Given the description of an element on the screen output the (x, y) to click on. 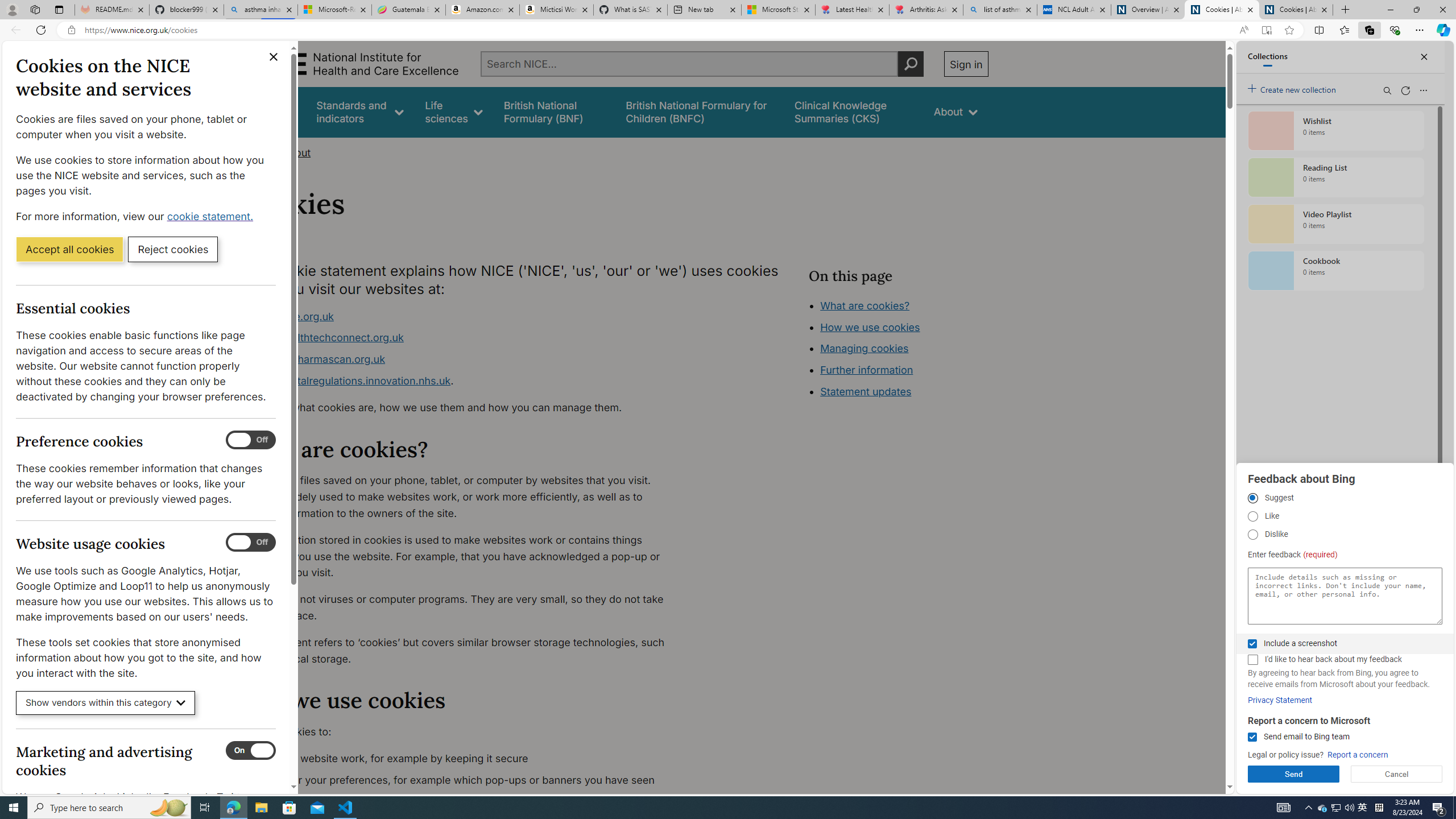
www.healthtechconnect.org.uk (327, 337)
www.ukpharmascan.org.uk (464, 359)
Sign in (965, 63)
Guidance (272, 111)
asthma inhaler - Search (260, 9)
www.digitalregulations.innovation.nhs.uk. (464, 380)
Home> (258, 152)
Accept all cookies (69, 248)
Send email to Bing team (1251, 737)
Cookies | About | NICE (1295, 9)
